Given the description of an element on the screen output the (x, y) to click on. 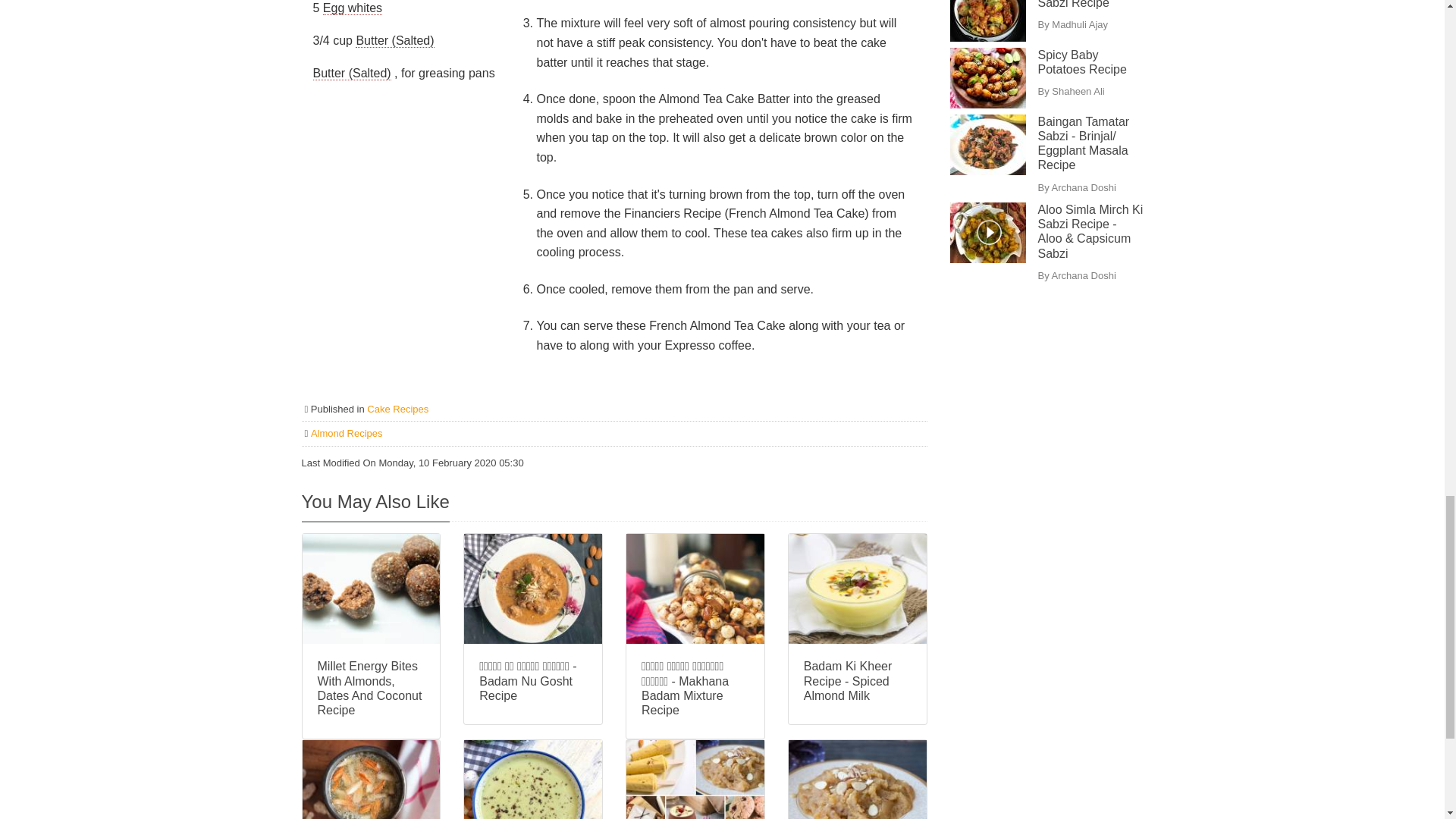
Millet Energy Bites With Almonds, Dates And Coconut Recipe (371, 688)
View more recipes in Cake Recipes (397, 408)
Cake Recipes (397, 408)
Badam Ki Kheer Recipe - Spiced Almond Milk (857, 680)
Almond Recipes (346, 432)
